Given the description of an element on the screen output the (x, y) to click on. 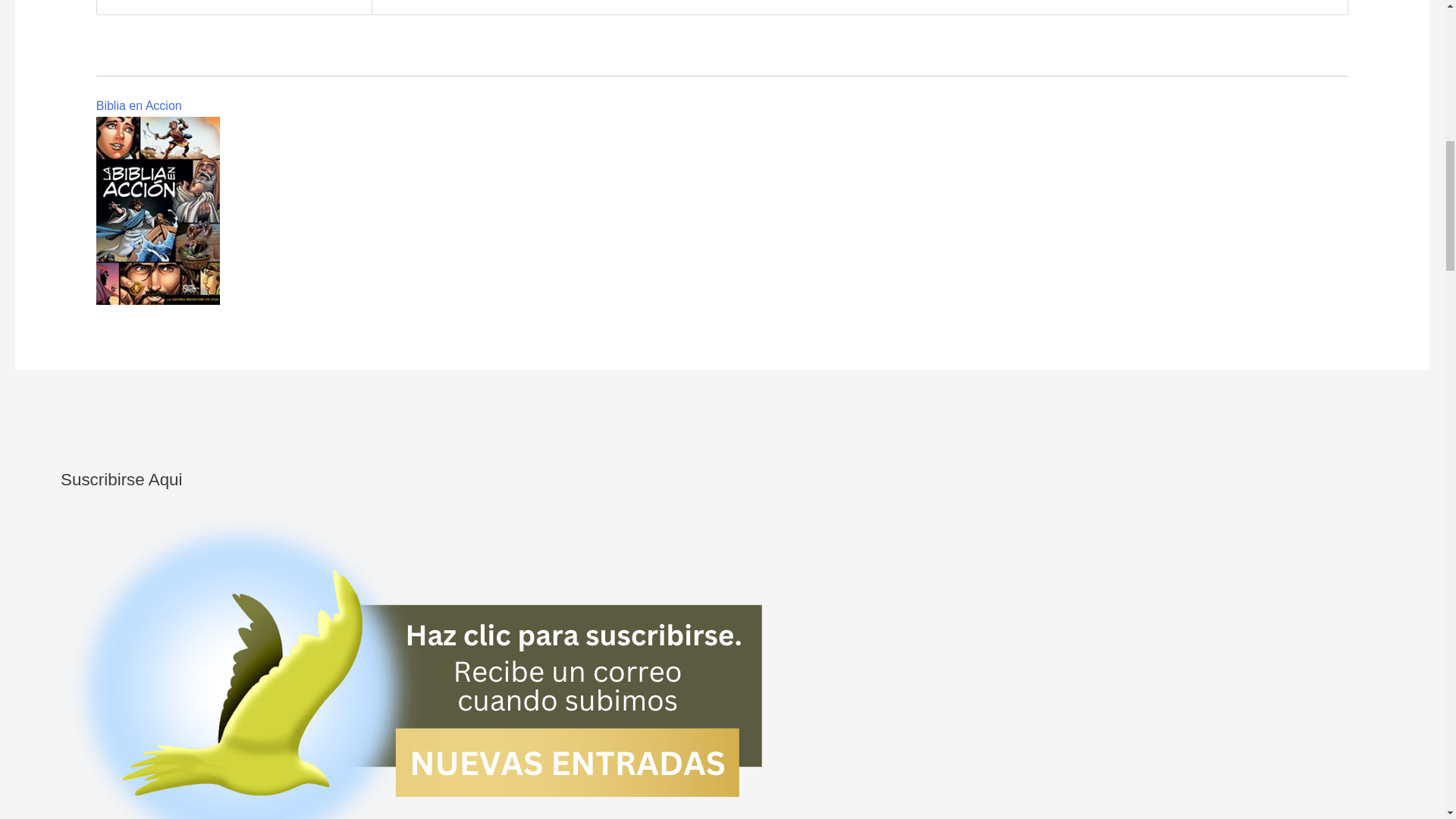
Biblia en Accion (139, 105)
Biblia en Accion (139, 105)
